Given the description of an element on the screen output the (x, y) to click on. 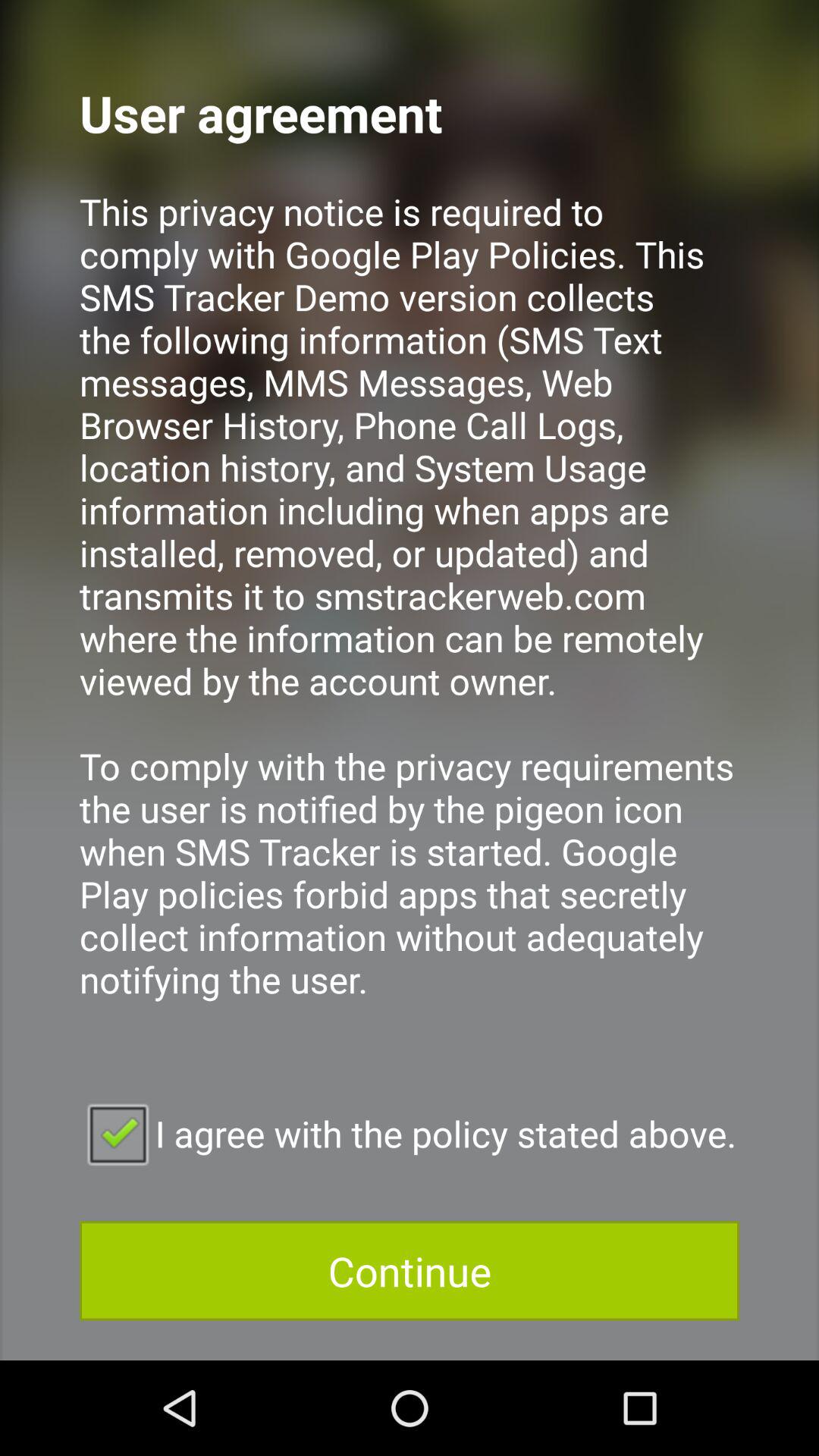
click the icon above the i agree with item (409, 616)
